Given the description of an element on the screen output the (x, y) to click on. 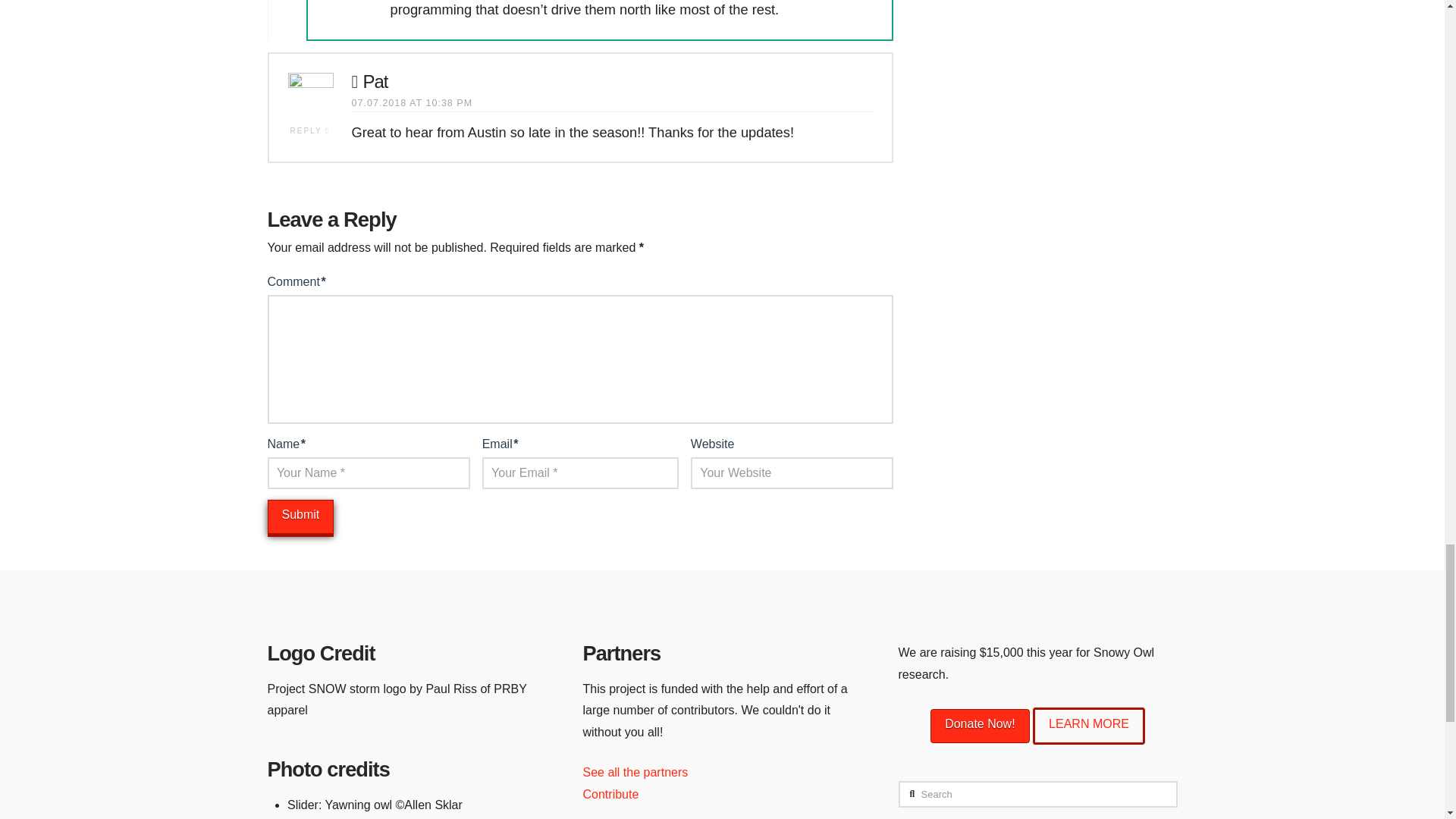
Example (1088, 725)
Submit (299, 516)
Example (979, 725)
